Given the description of an element on the screen output the (x, y) to click on. 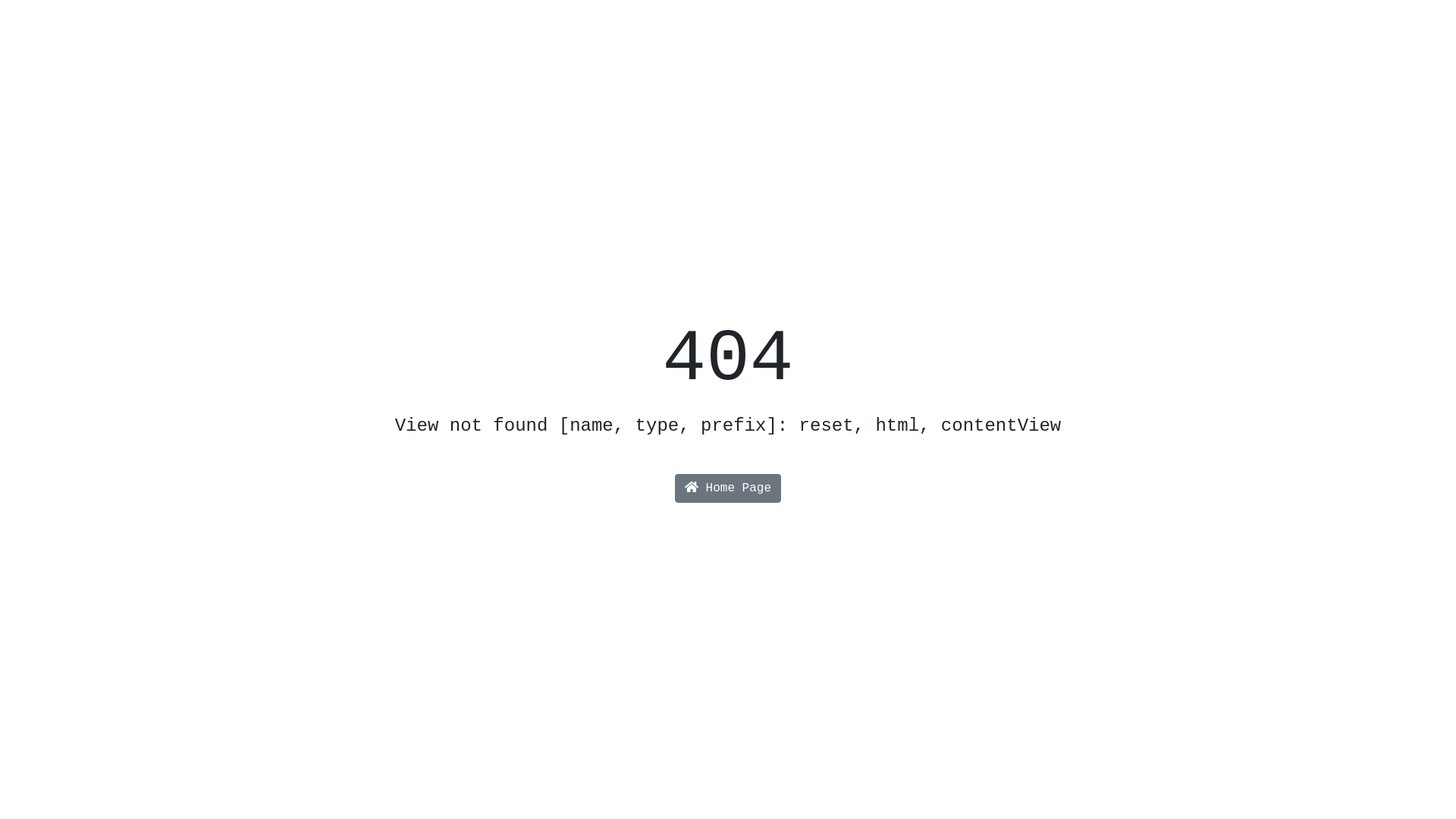
Home Page Element type: text (727, 487)
